Given the description of an element on the screen output the (x, y) to click on. 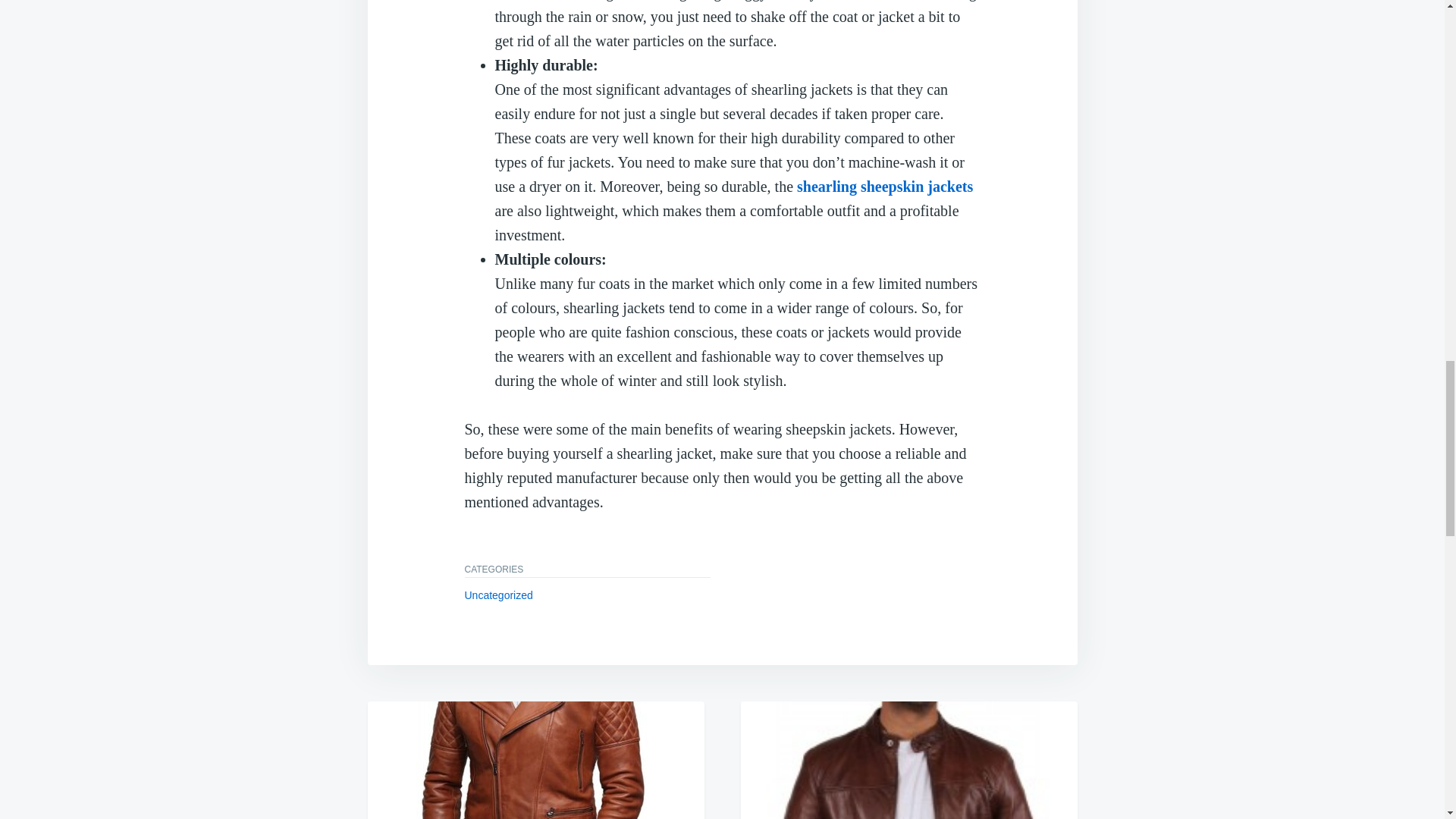
shearling sheepskin jackets (884, 186)
A Complete Guide for Choosing the Best Leather Jacket!! (908, 760)
Uncategorized (498, 594)
